Given the description of an element on the screen output the (x, y) to click on. 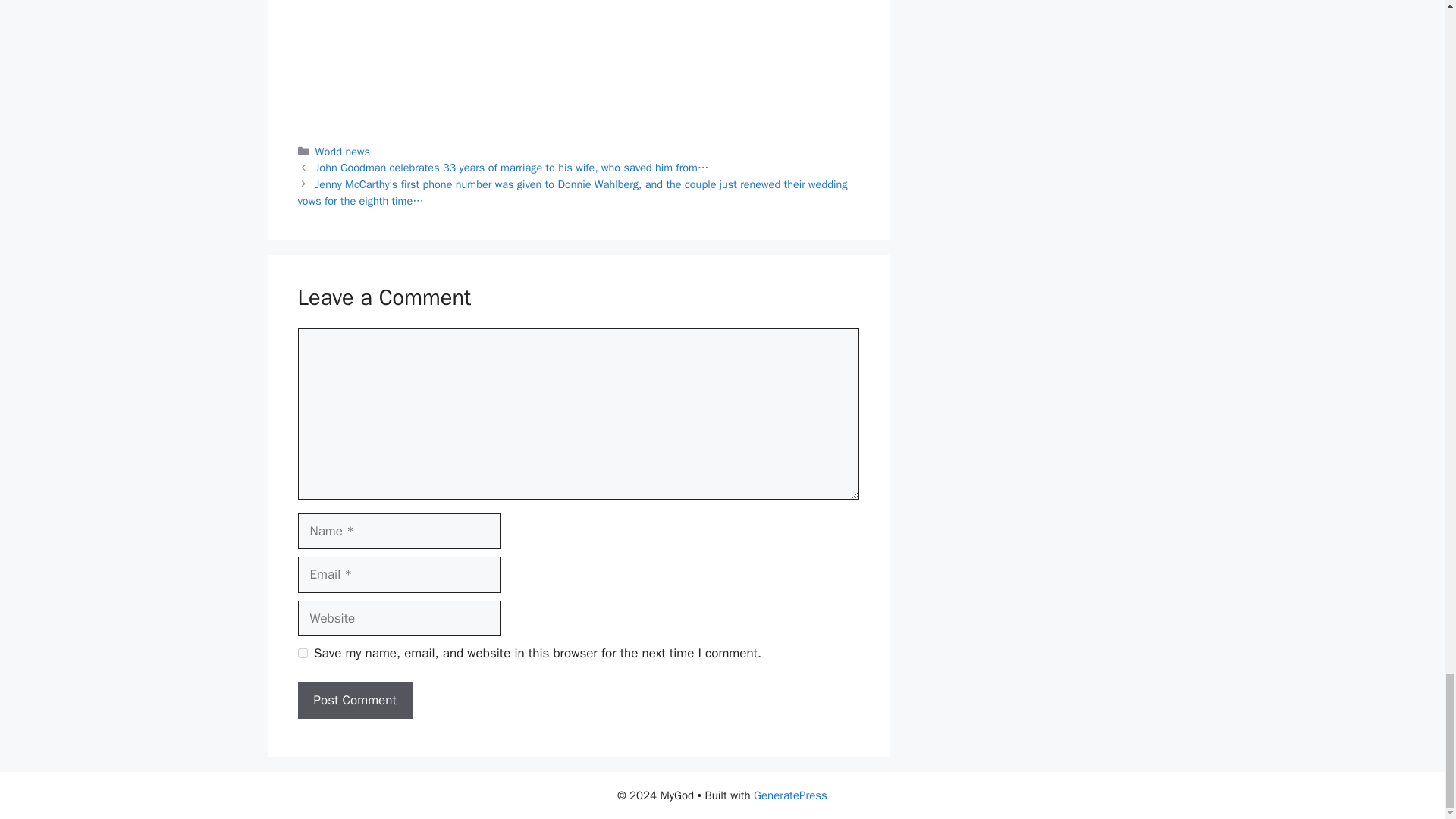
yes (302, 653)
GeneratePress (790, 795)
Post Comment (354, 700)
Post Comment (354, 700)
World news (342, 151)
